Given the description of an element on the screen output the (x, y) to click on. 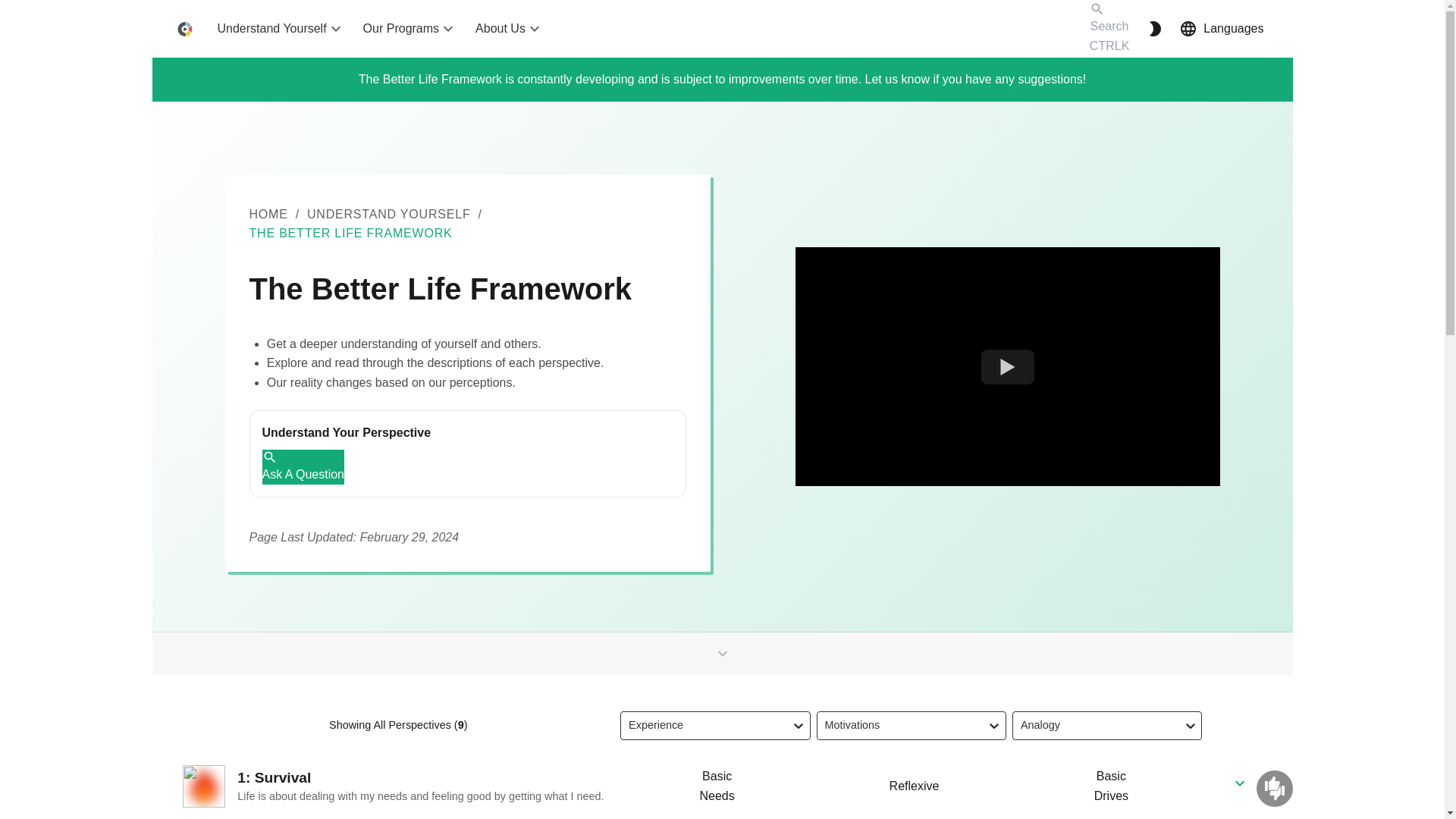
THE BETTER LIFE FRAMEWORK (349, 233)
Ask A Question (303, 466)
HOME (267, 214)
UNDERSTAND YOURSELF (388, 214)
Languages (1221, 29)
